Given the description of an element on the screen output the (x, y) to click on. 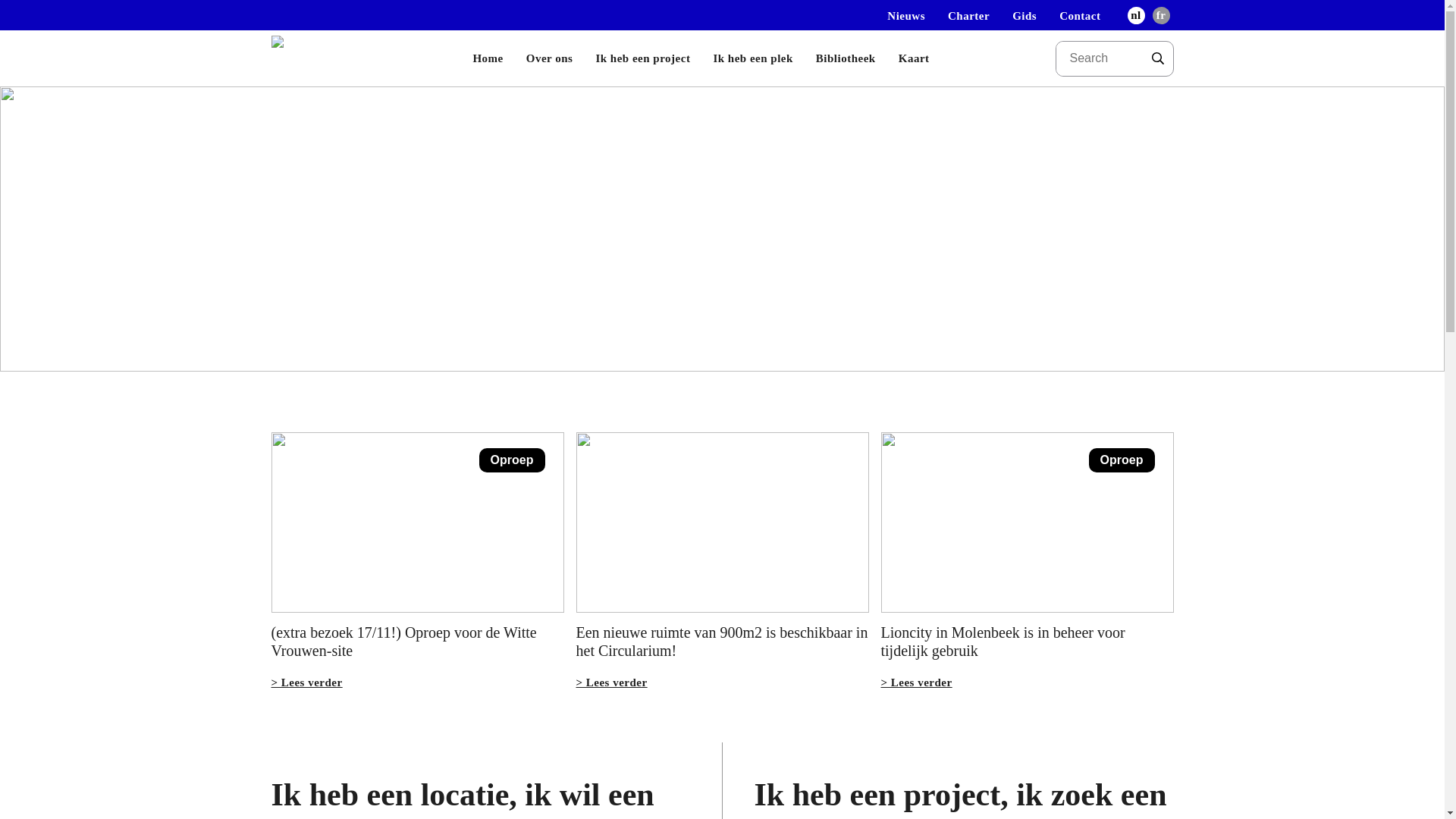
Contact Element type: text (1079, 15)
Kaart Element type: text (913, 58)
Over ons Element type: text (549, 58)
Nieuws Element type: text (906, 15)
Ik heb een project Element type: text (642, 58)
Ik heb een plek Element type: text (752, 58)
> Lees verder Element type: text (611, 682)
nl Element type: text (1135, 15)
Guichet occupation temporaire Element type: text (309, 58)
Charter Element type: text (968, 15)
Gids Element type: text (1024, 15)
fr Element type: text (1160, 15)
> Lees verder Element type: text (306, 682)
> Lees verder Element type: text (916, 682)
Home Element type: text (487, 58)
Bibliotheek Element type: text (845, 58)
